Given the description of an element on the screen output the (x, y) to click on. 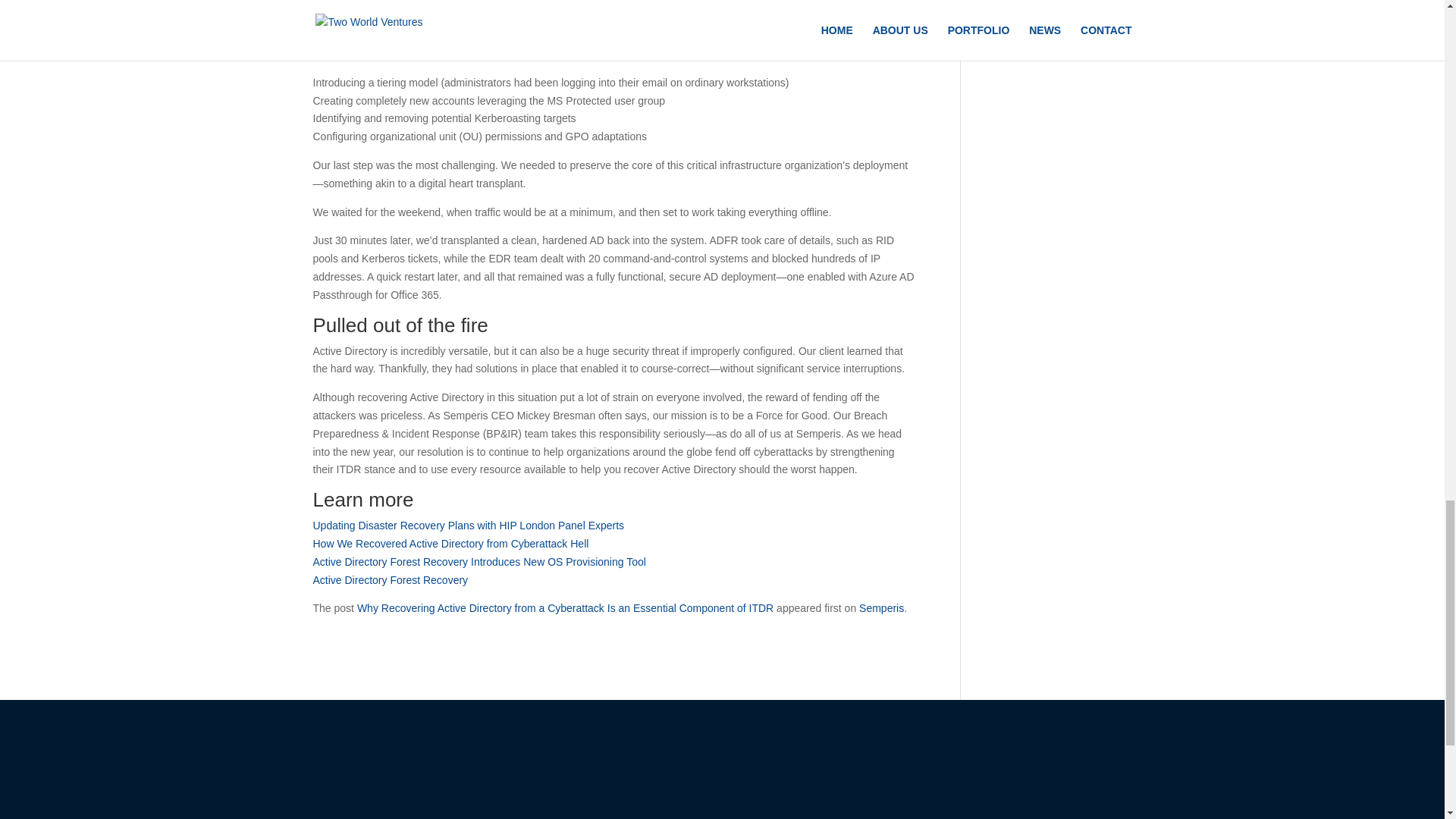
Semperis (881, 607)
Active Directory Forest Recovery (390, 580)
How We Recovered Active Directory from Cyberattack Hell (450, 543)
